Given the description of an element on the screen output the (x, y) to click on. 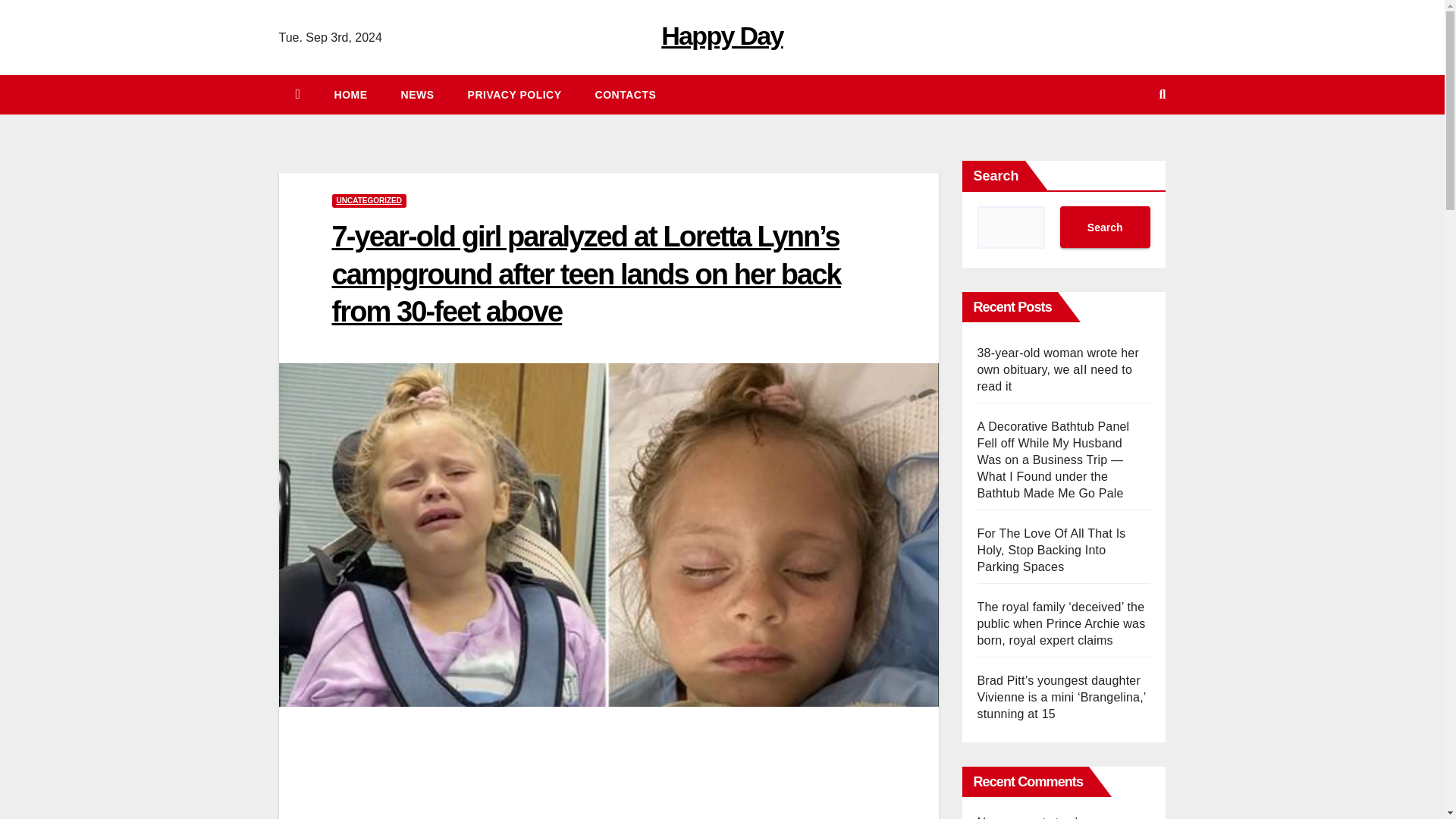
News (417, 94)
Search (1104, 227)
Happy Day (722, 35)
HOME (350, 94)
PRIVACY POLICY (514, 94)
CONTACTS (625, 94)
Contacts (625, 94)
UNCATEGORIZED (368, 201)
NEWS (417, 94)
